Given the description of an element on the screen output the (x, y) to click on. 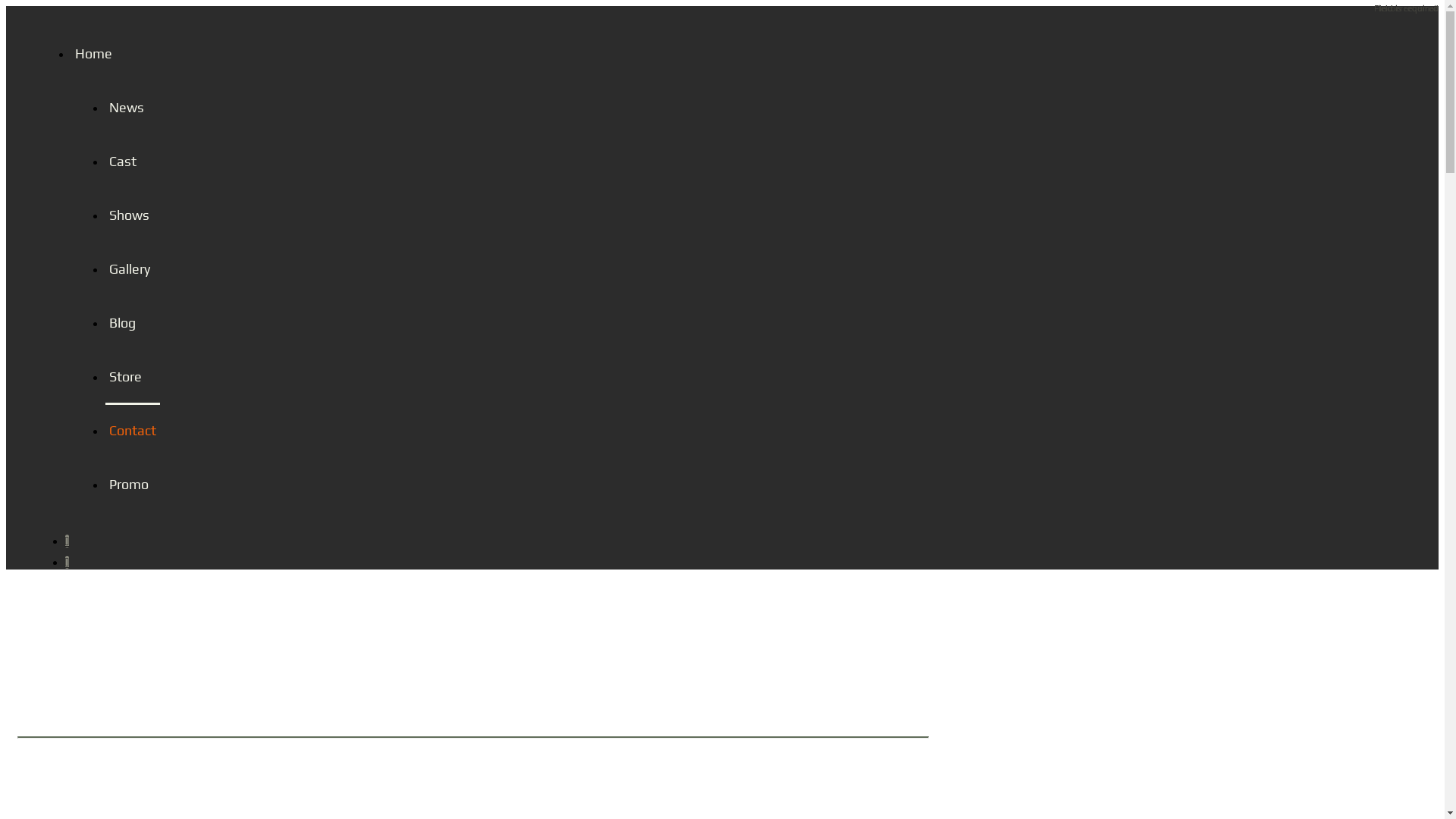
Store Element type: text (132, 375)
Contact Element type: text (132, 429)
Blog Element type: text (132, 321)
News Element type: text (132, 106)
Shows Element type: text (132, 214)
Home Element type: text (115, 52)
Gallery Element type: text (132, 267)
Promo Element type: text (132, 483)
Cast Element type: text (132, 160)
